Given the description of an element on the screen output the (x, y) to click on. 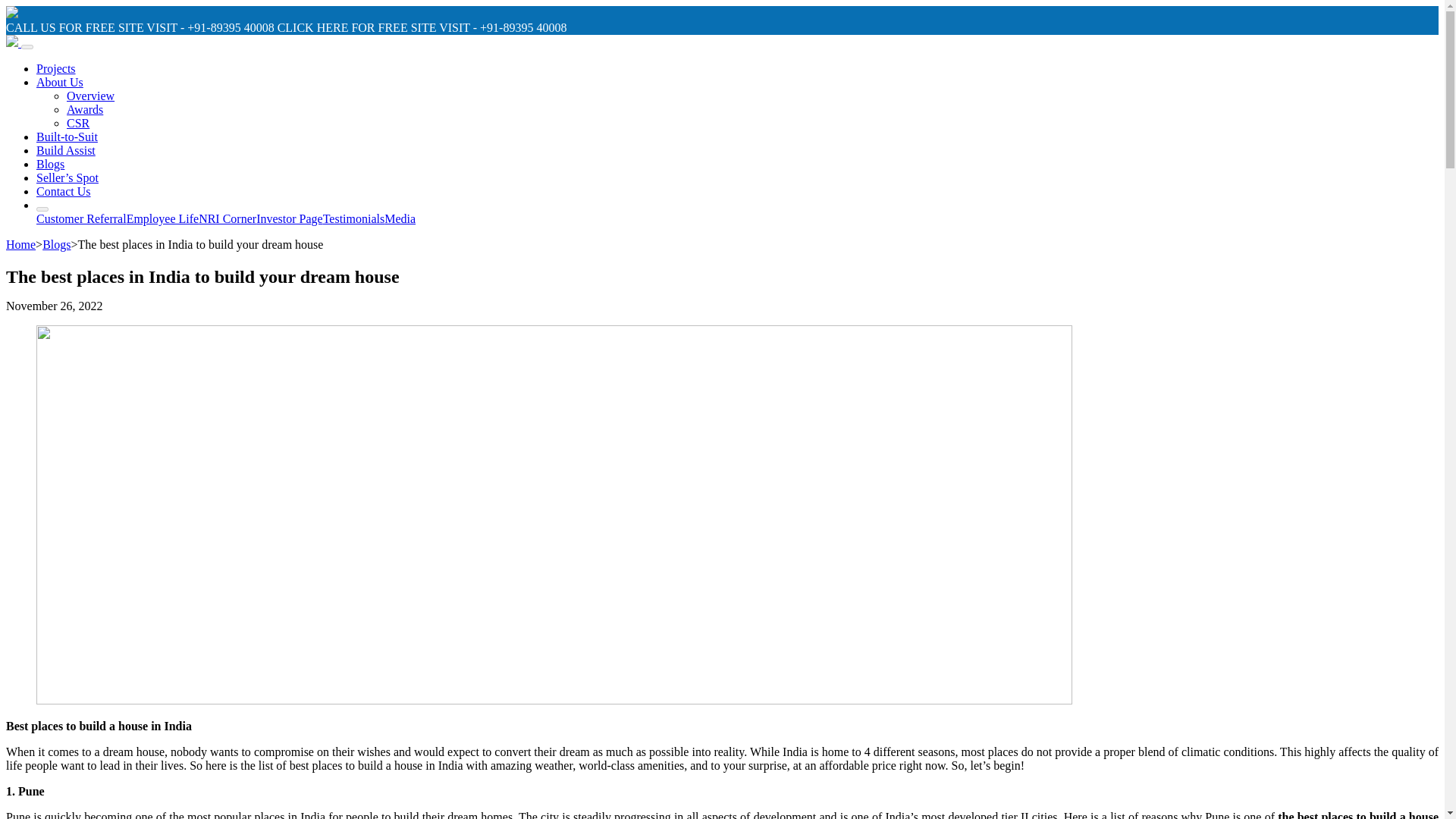
Projects (55, 68)
Media (399, 218)
Investor Page (289, 218)
Contact Us (63, 191)
Awards (84, 109)
Blogs (55, 244)
Blogs (50, 164)
Built-to-Suit (66, 136)
NRI Corner (227, 218)
Testimonials (354, 218)
